Given the description of an element on the screen output the (x, y) to click on. 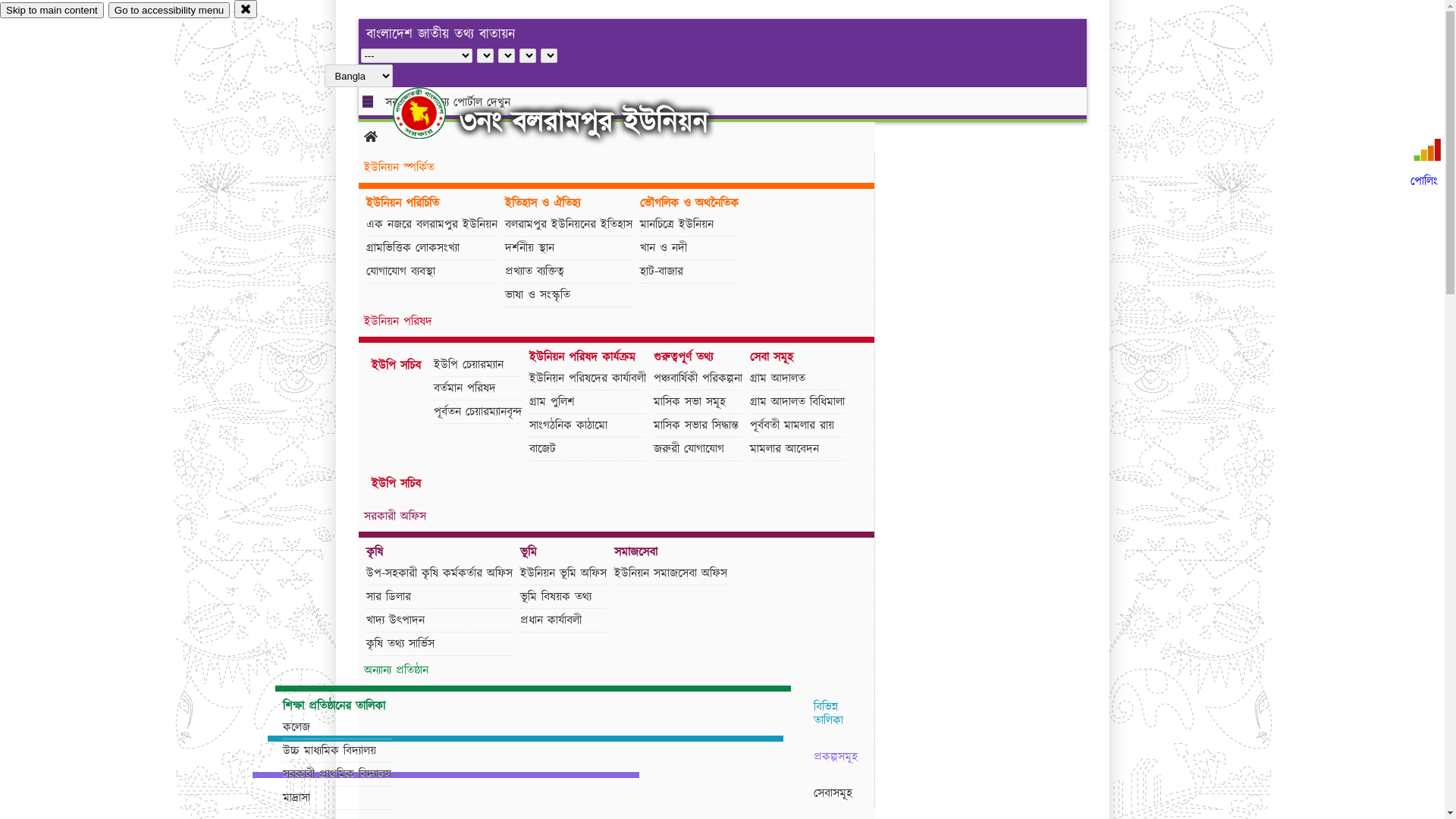
Go to accessibility menu Element type: text (168, 10)
Skip to main content Element type: text (51, 10)

                
             Element type: hover (431, 112)
close Element type: hover (245, 9)
